Given the description of an element on the screen output the (x, y) to click on. 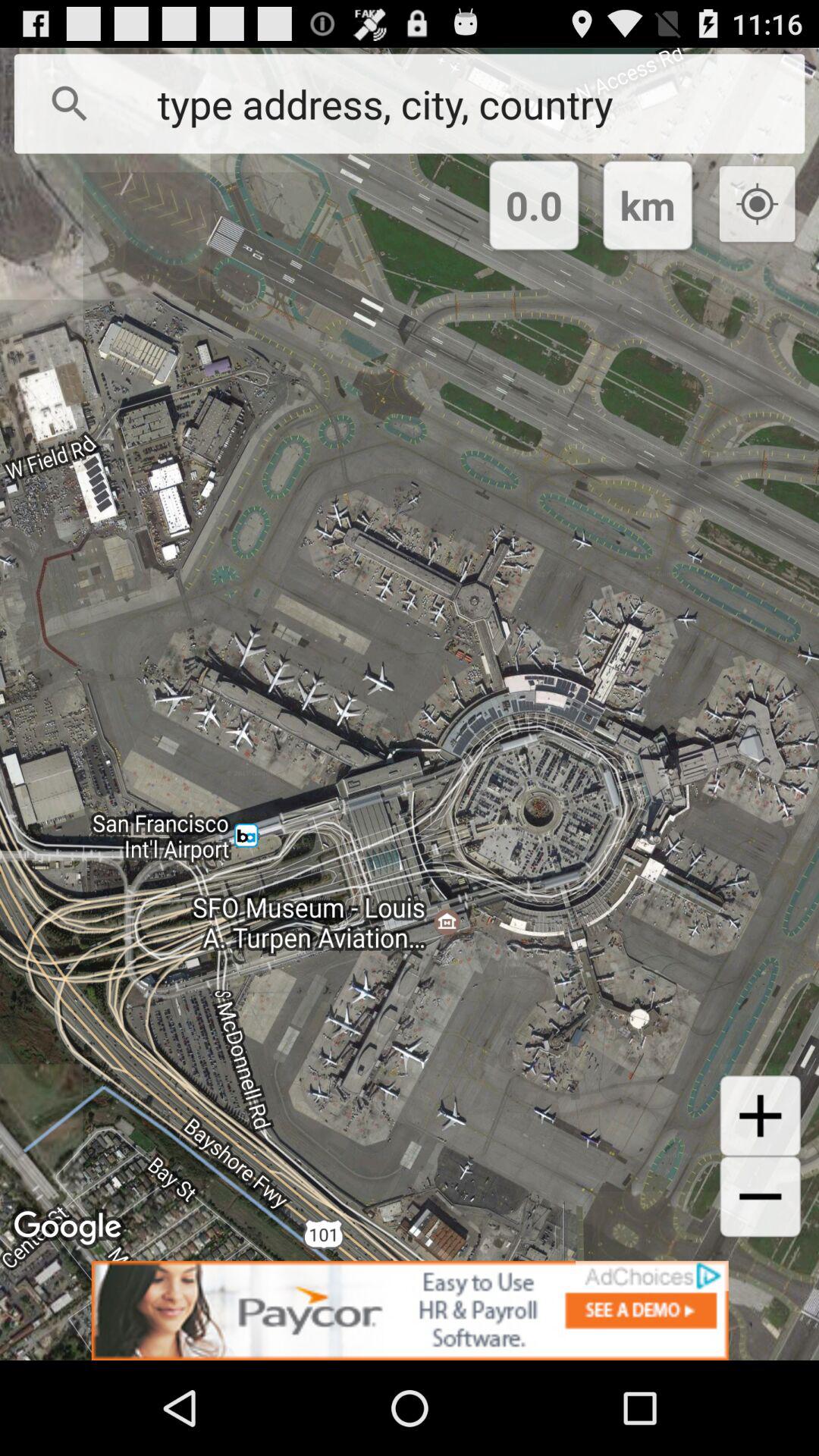
zoom out option (760, 1196)
